Given the description of an element on the screen output the (x, y) to click on. 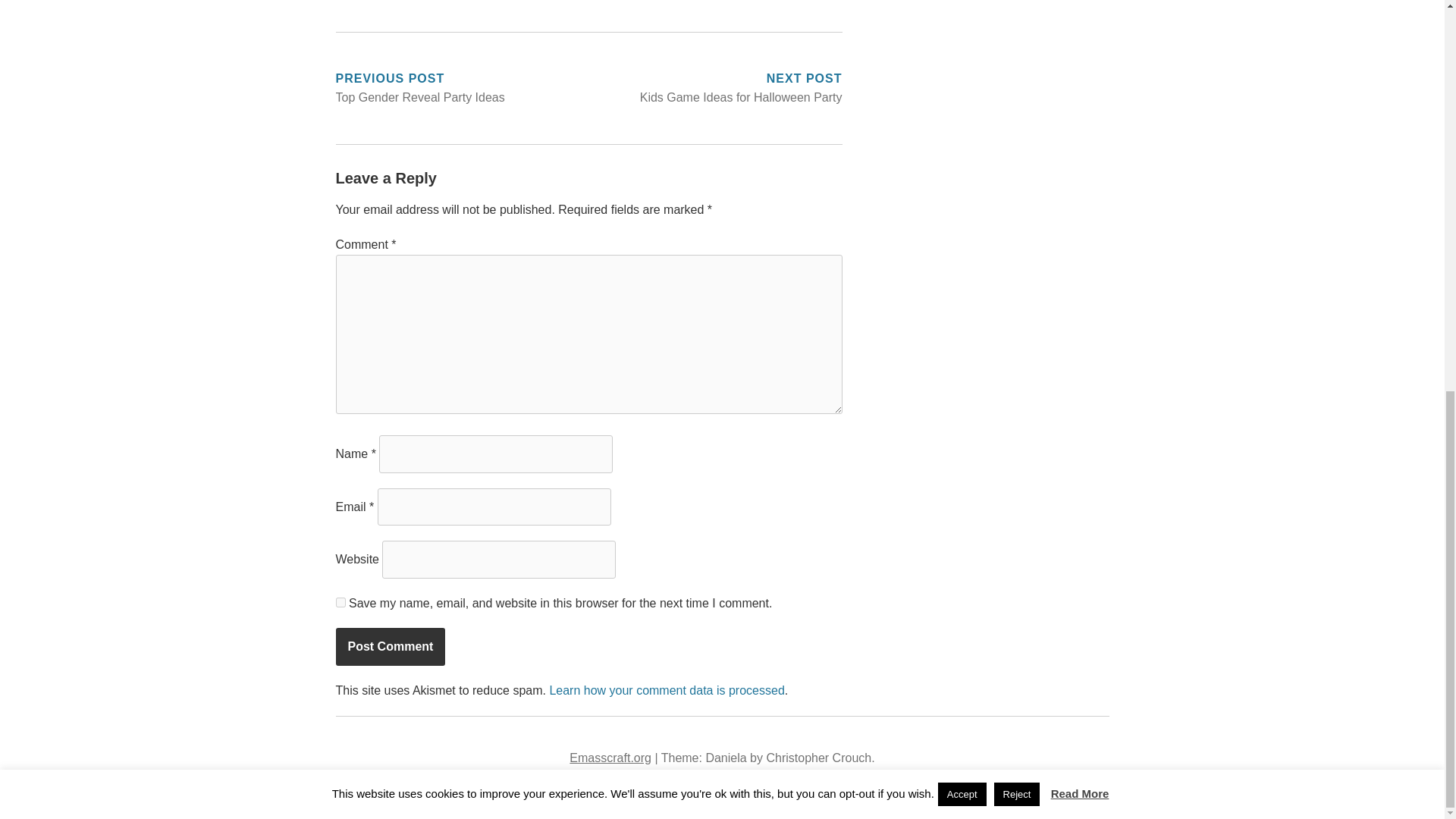
Reject (1017, 45)
yes (339, 602)
Post Comment (389, 646)
Learn how your comment data is processed (666, 689)
Read More (1080, 44)
Post Comment (714, 87)
Accept (389, 646)
Emasscraft.org (962, 45)
